Given the description of an element on the screen output the (x, y) to click on. 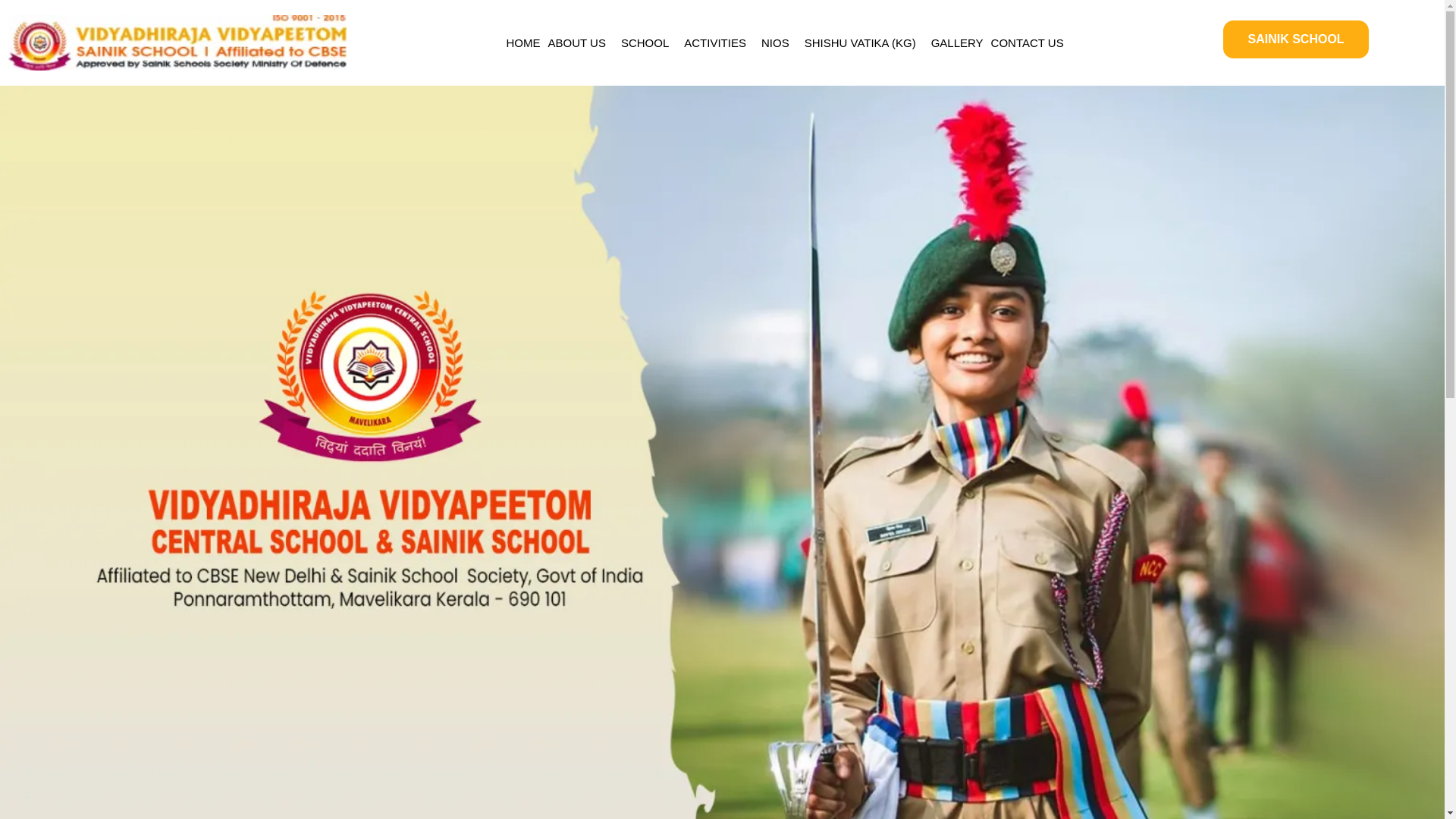
GALLERY (957, 42)
SAINIK SCHOOL (1295, 39)
SCHOOL (648, 42)
ACTIVITIES (718, 42)
CONTACT US (1027, 42)
NIOS (778, 42)
HOME (523, 42)
ABOUT US (580, 42)
